Given the description of an element on the screen output the (x, y) to click on. 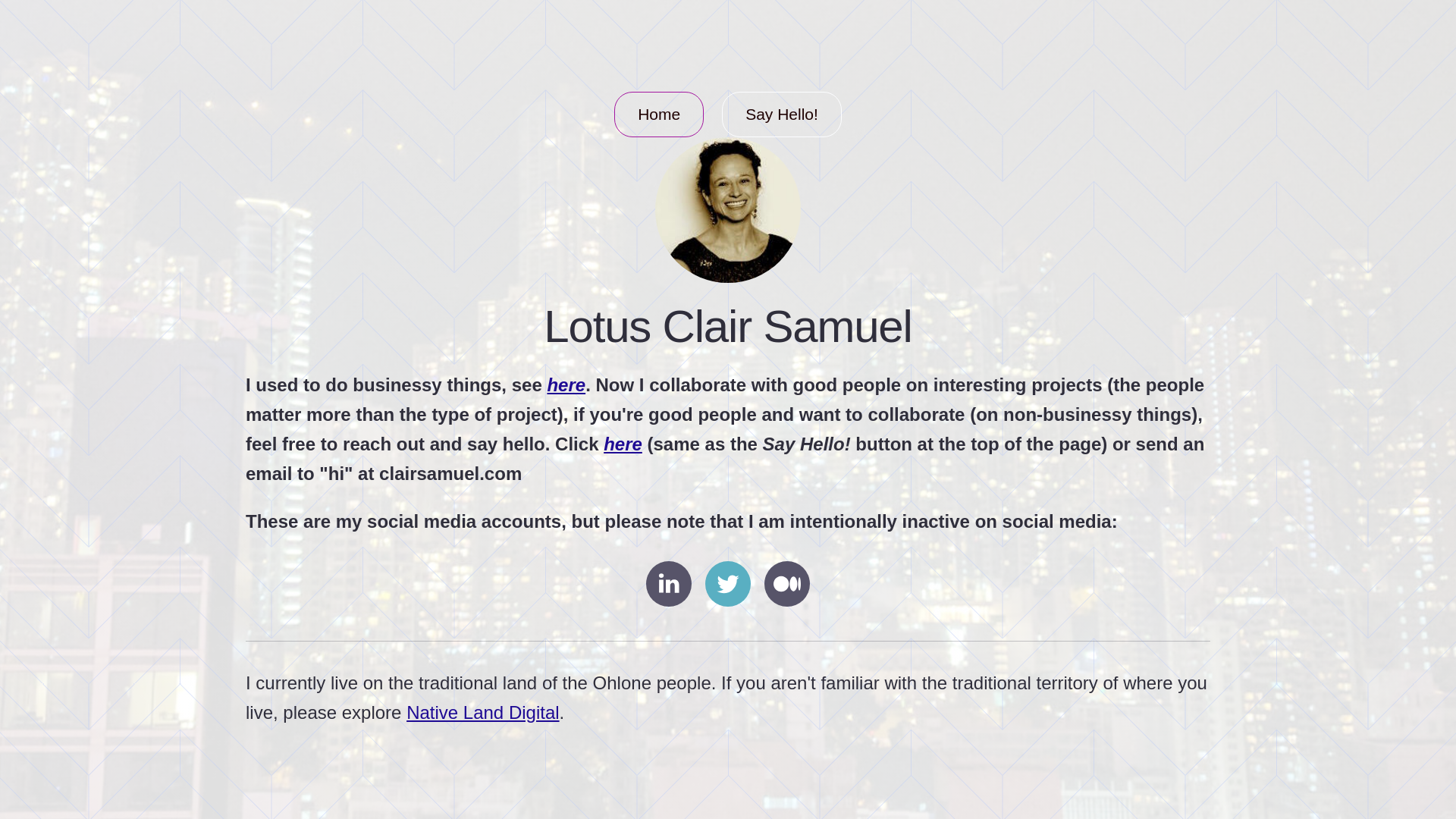
Home (658, 114)
Say Hello! (781, 114)
here (623, 444)
here (566, 384)
Native Land Digital (482, 711)
